Given the description of an element on the screen output the (x, y) to click on. 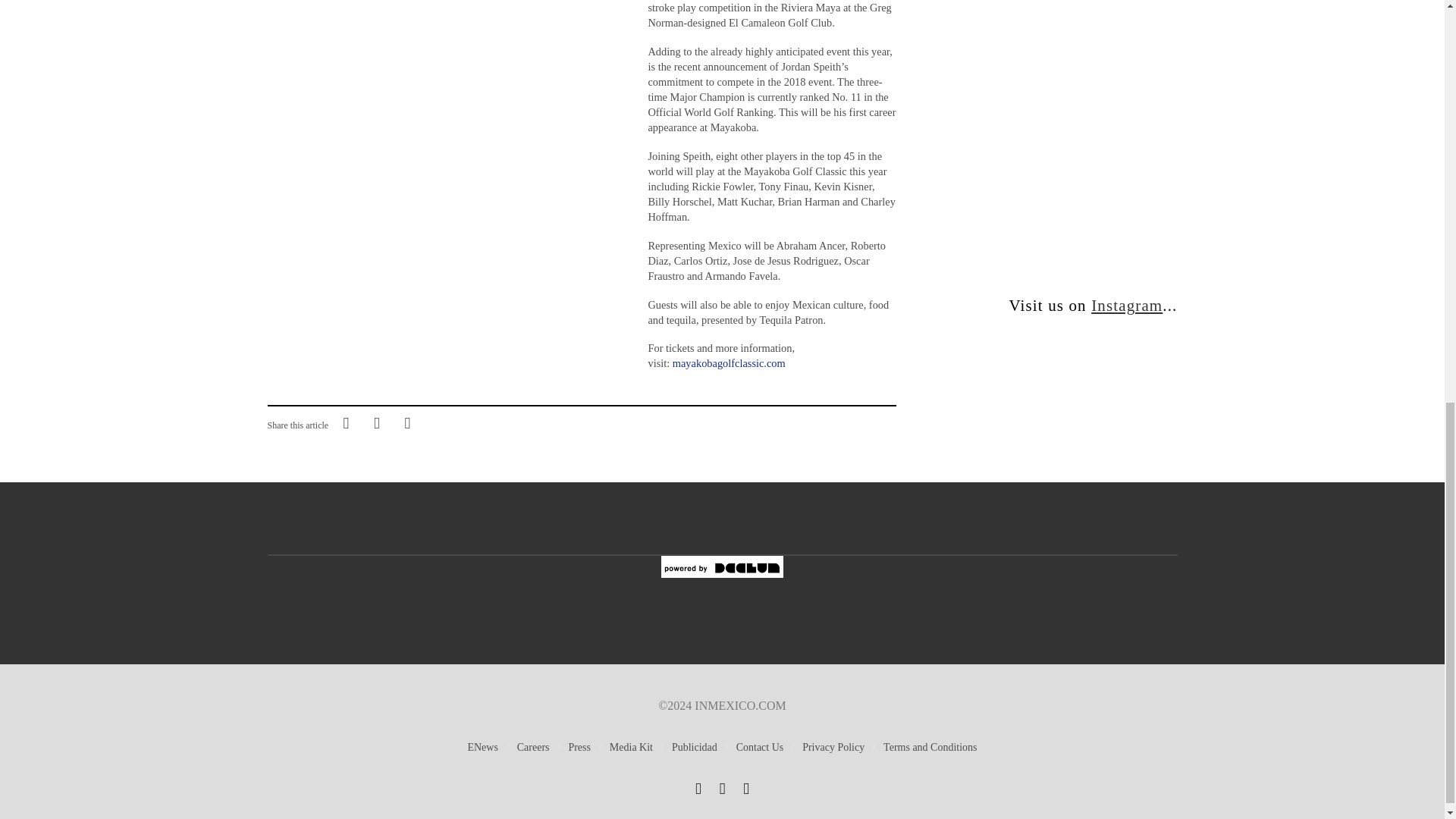
Share on Email (407, 421)
Share on Twitter (376, 421)
Share on Facebook (345, 421)
